Given the description of an element on the screen output the (x, y) to click on. 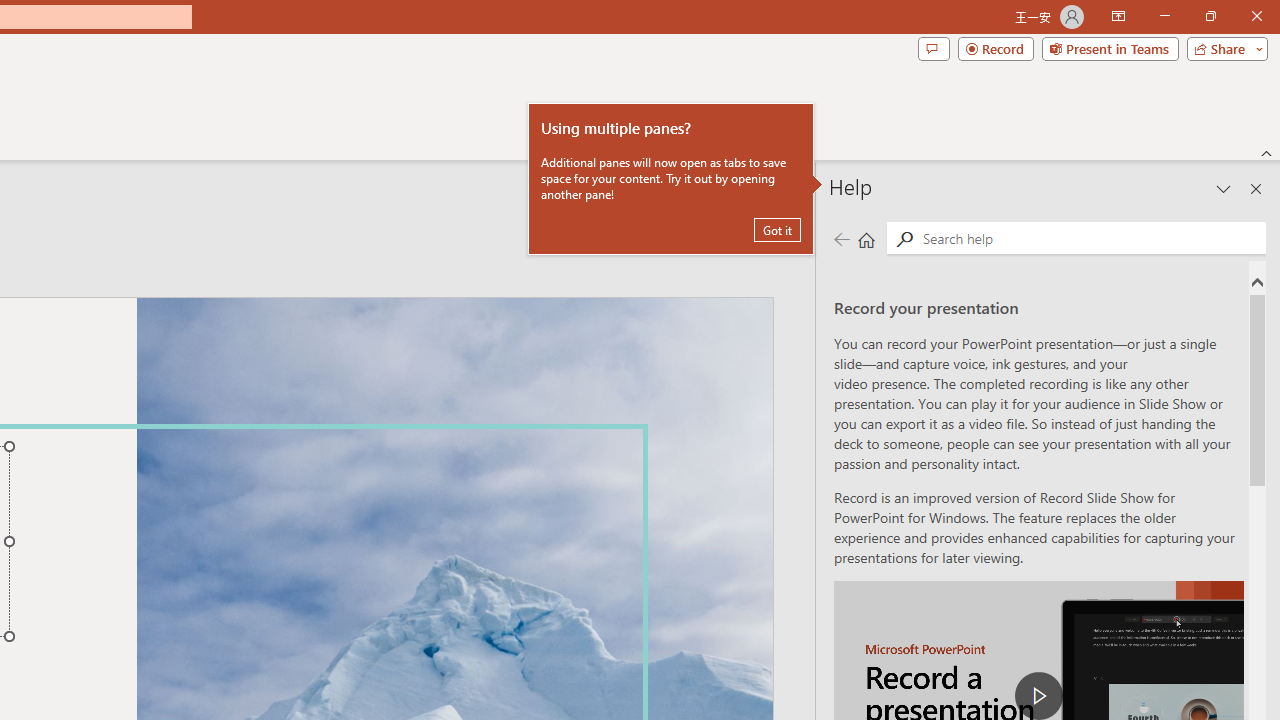
Got it (777, 229)
play Record a Presentation (1038, 695)
Previous page (841, 238)
